Given the description of an element on the screen output the (x, y) to click on. 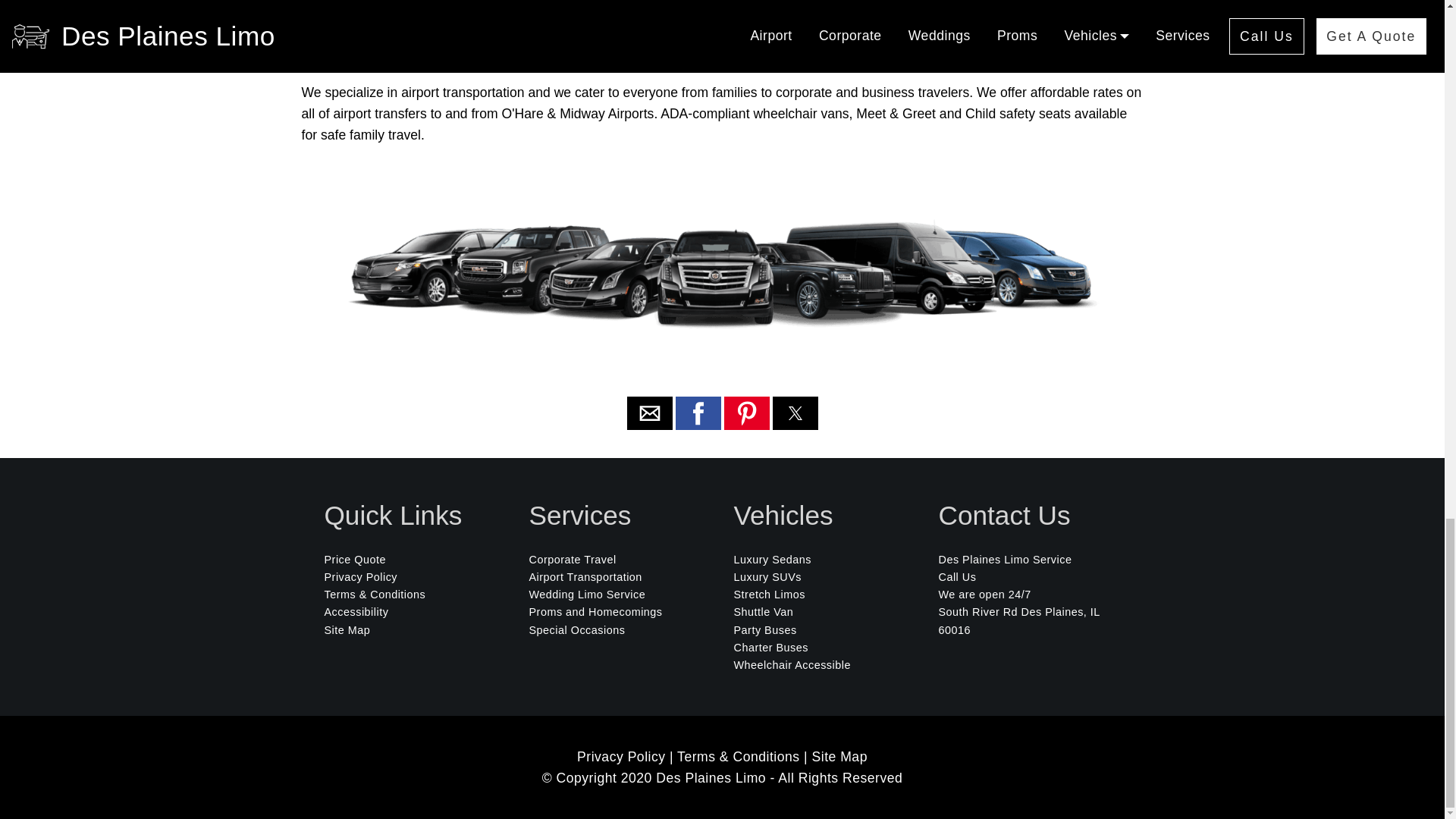
Privacy Policy (360, 576)
Luxury Sedans (772, 559)
Party Buses (764, 630)
Wedding Limo Service (587, 594)
Special Occasions (577, 630)
Proms and Homecomings (595, 612)
Shuttle Van (763, 612)
Luxury SUVs (767, 576)
Charter Buses (770, 647)
Stretch Limos (769, 594)
Wheelchair Accessible (791, 664)
Site Map (347, 630)
Price Quote (355, 559)
Airport Transportation (585, 576)
Corporate Travel (572, 559)
